Given the description of an element on the screen output the (x, y) to click on. 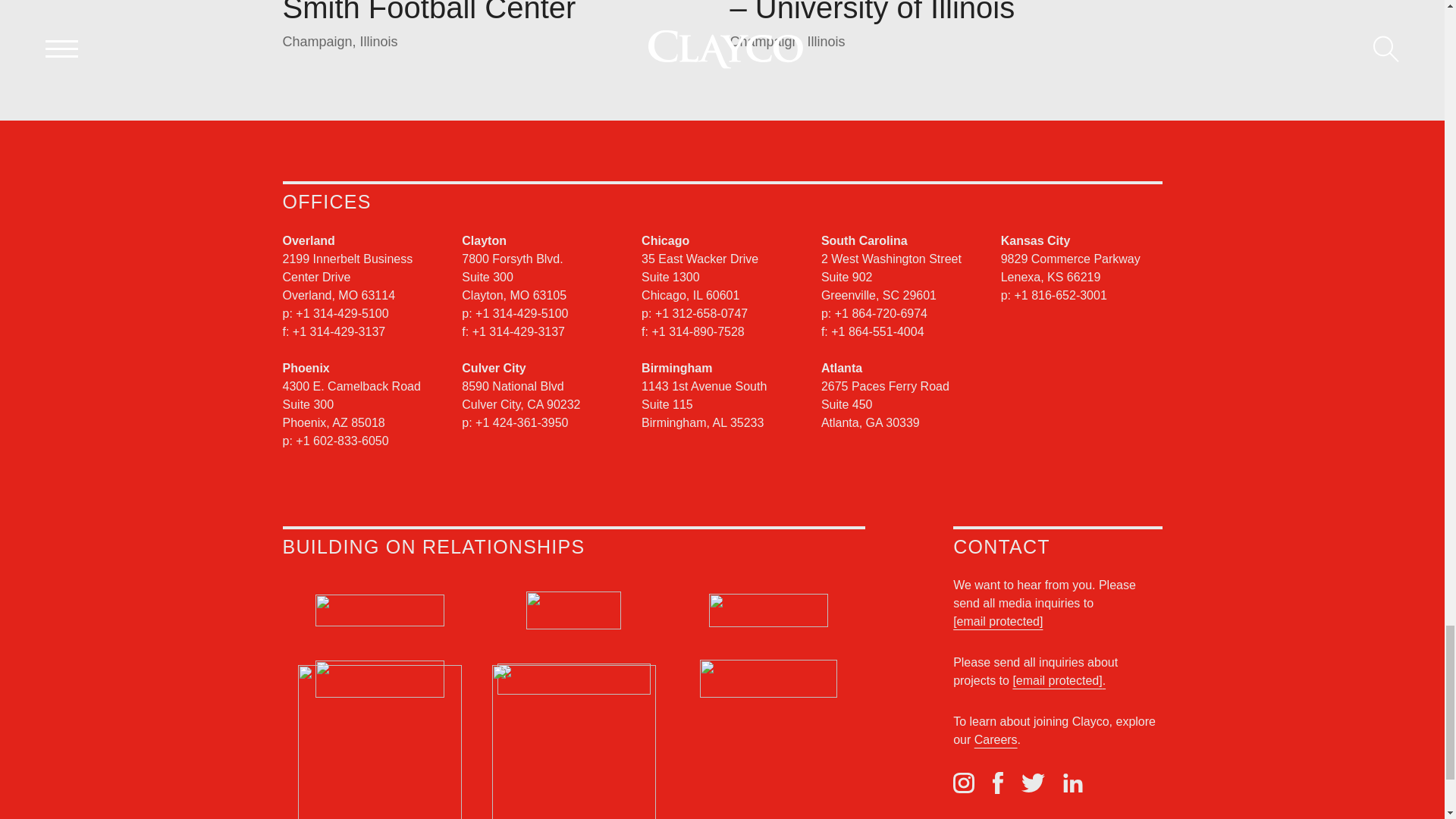
LinkedIn (1072, 783)
Instagram (963, 783)
Facebook (997, 782)
Twitter (1033, 782)
